Given the description of an element on the screen output the (x, y) to click on. 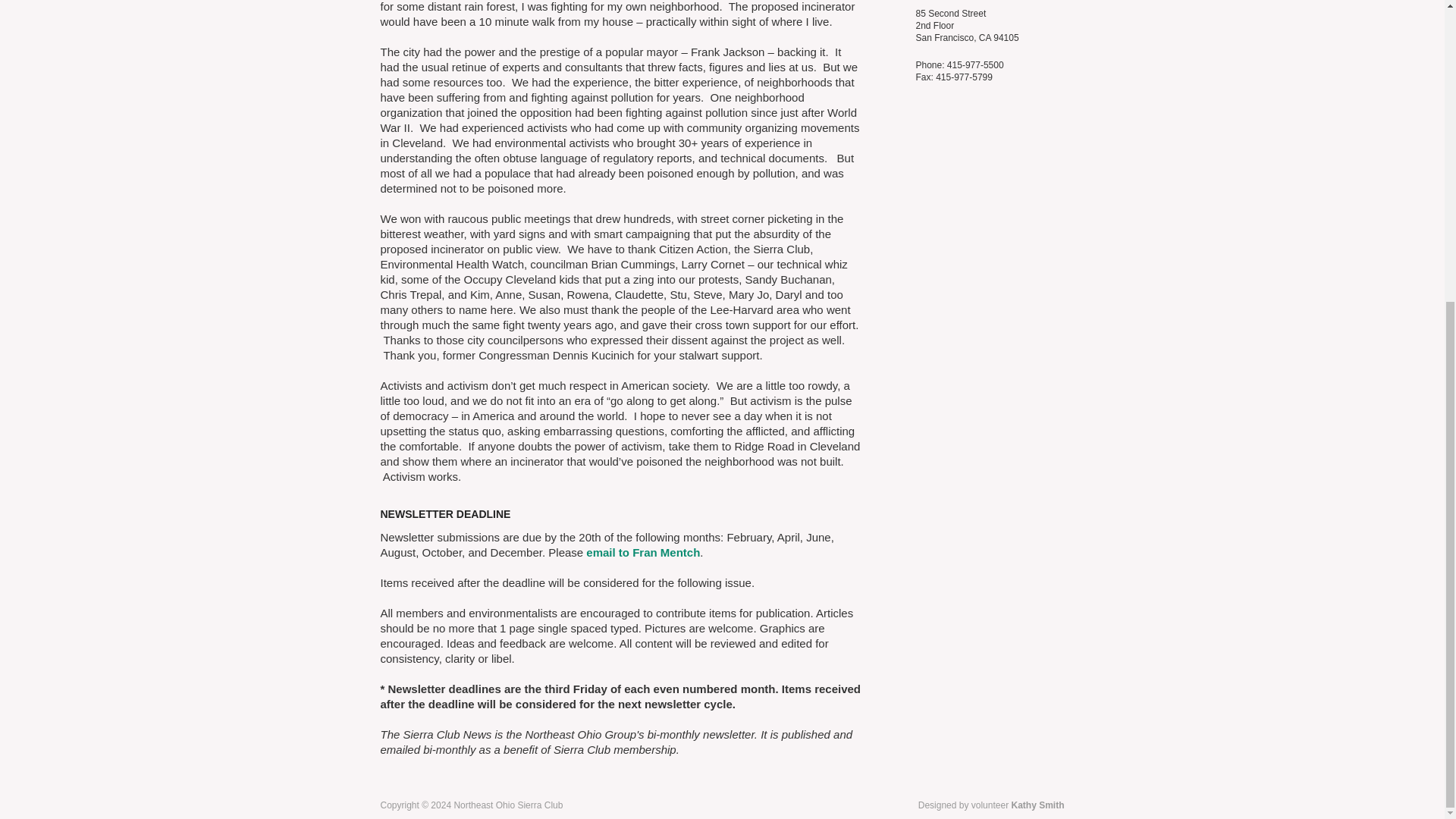
Email webmaster... (1037, 805)
email to Fran Mentch (643, 552)
Kathy Smith (1037, 805)
